Given the description of an element on the screen output the (x, y) to click on. 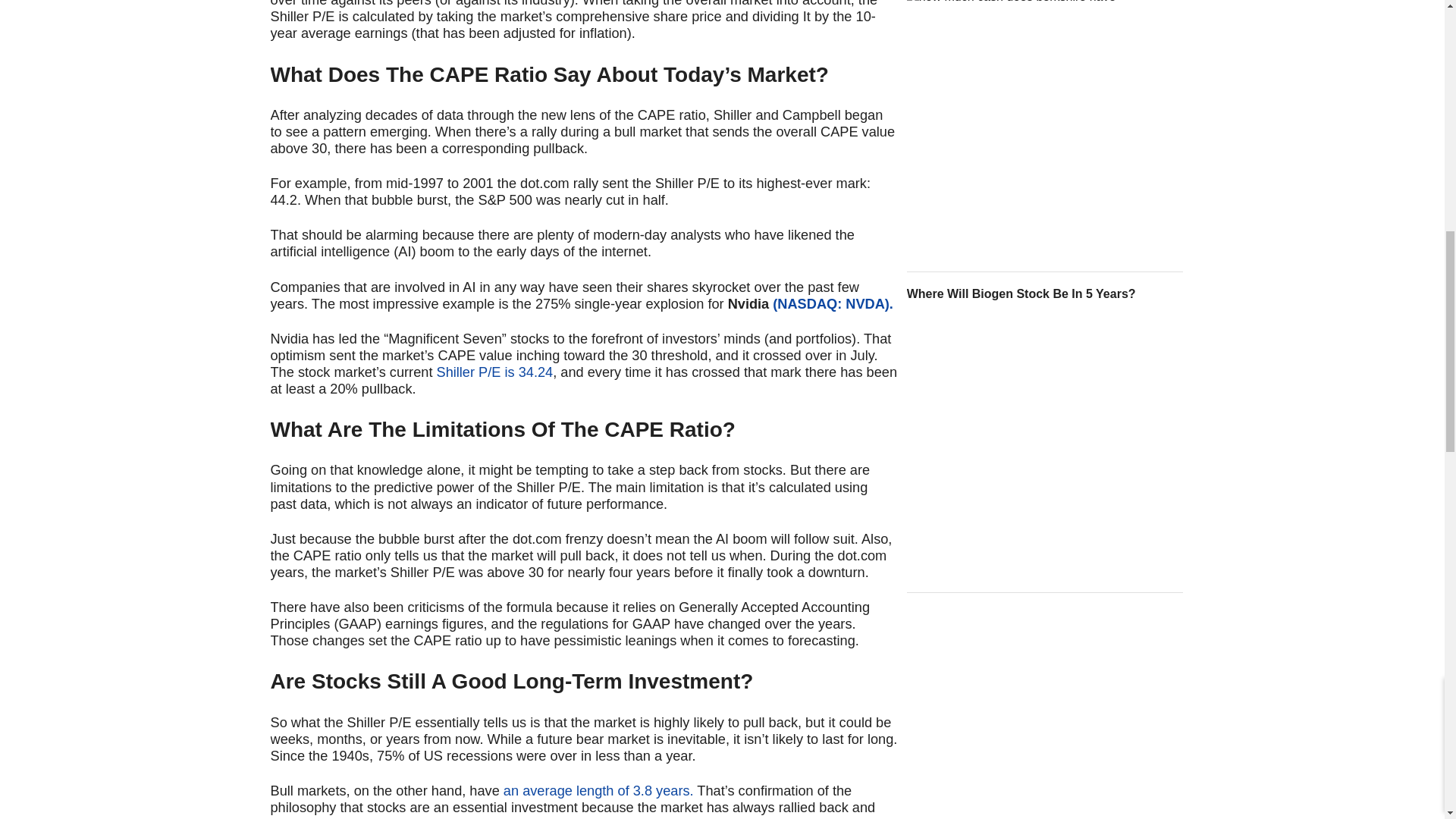
Where Will Biogen Stock Be In 5 Years? (1045, 293)
Where Will Biogen Stock Be In 5 Years? (1045, 448)
The Ultimate Stock To Buy and Hold Forever (1045, 132)
an average length of 3.8 years. (598, 790)
